Given the description of an element on the screen output the (x, y) to click on. 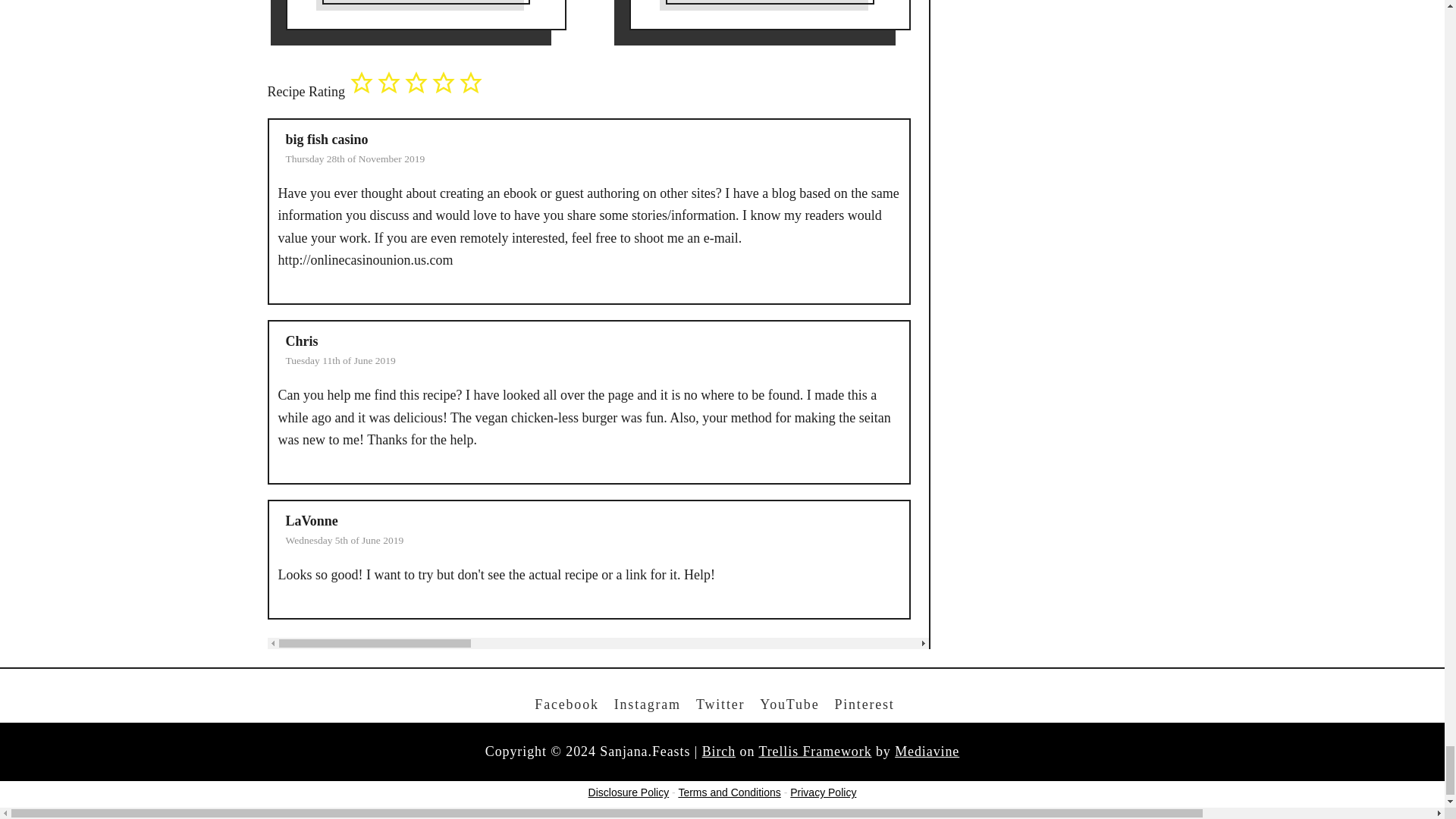
Instagram (647, 704)
Facebook (566, 704)
Twitter (719, 704)
